Given the description of an element on the screen output the (x, y) to click on. 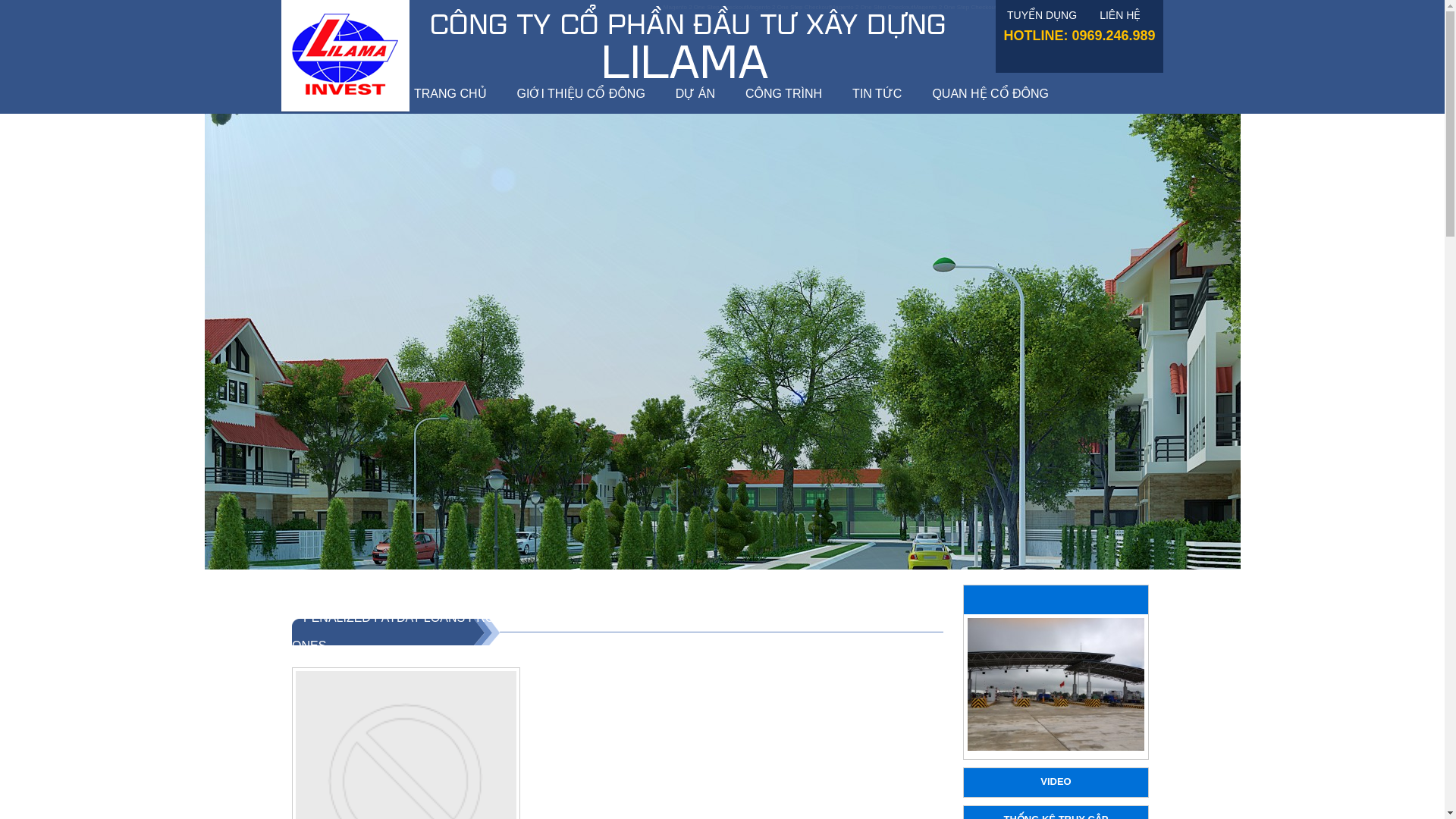
Magento 2 One Step Checkout (953, 7)
Magento 2 One Step Checkout (704, 7)
Magento 2 One Step Checkout (1037, 7)
Magento 2 One Step Checkout (871, 7)
Magento 2 One Step Checkout (1121, 7)
Magento 2 One Step Checkout (787, 7)
